Given the description of an element on the screen output the (x, y) to click on. 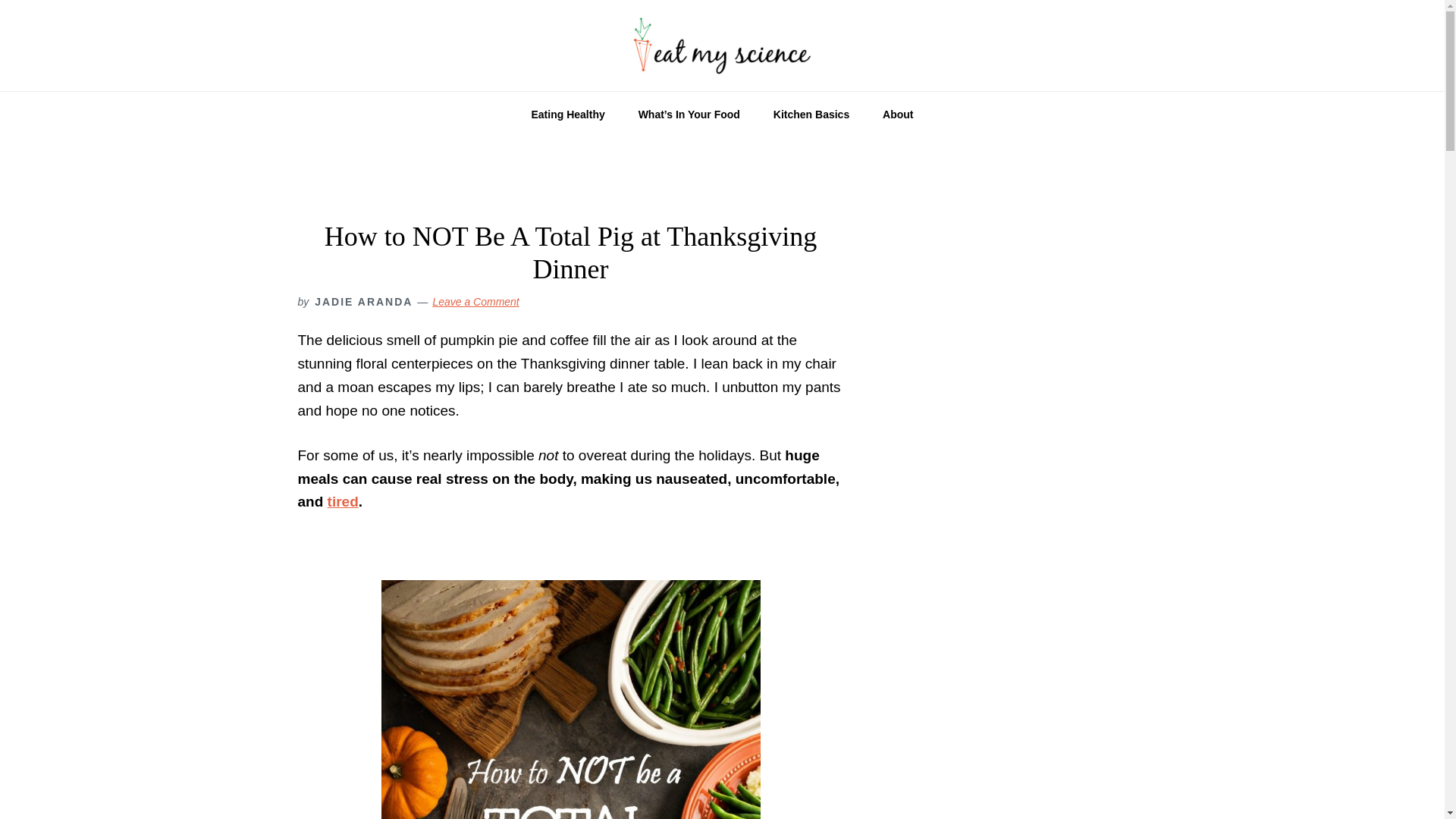
About (897, 114)
Eating Healthy (567, 114)
Leave a Comment (475, 301)
JADIE ARANDA (363, 301)
tired (342, 501)
Eat My Science! (721, 45)
Kitchen Basics (811, 114)
